Given the description of an element on the screen output the (x, y) to click on. 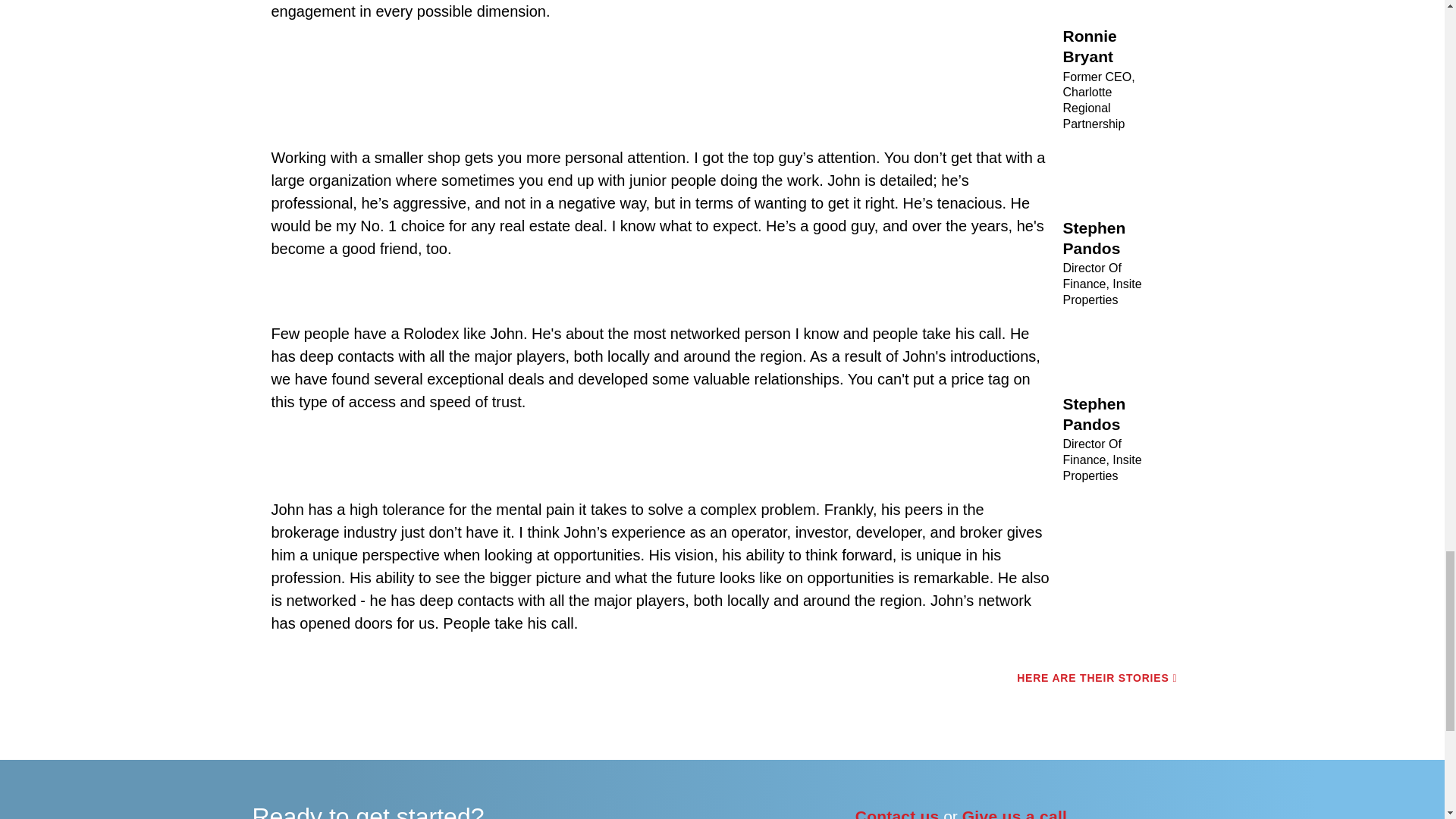
HERE ARE THEIR STORIES (1096, 677)
Contact us (897, 813)
Give us a call (1014, 813)
